Given the description of an element on the screen output the (x, y) to click on. 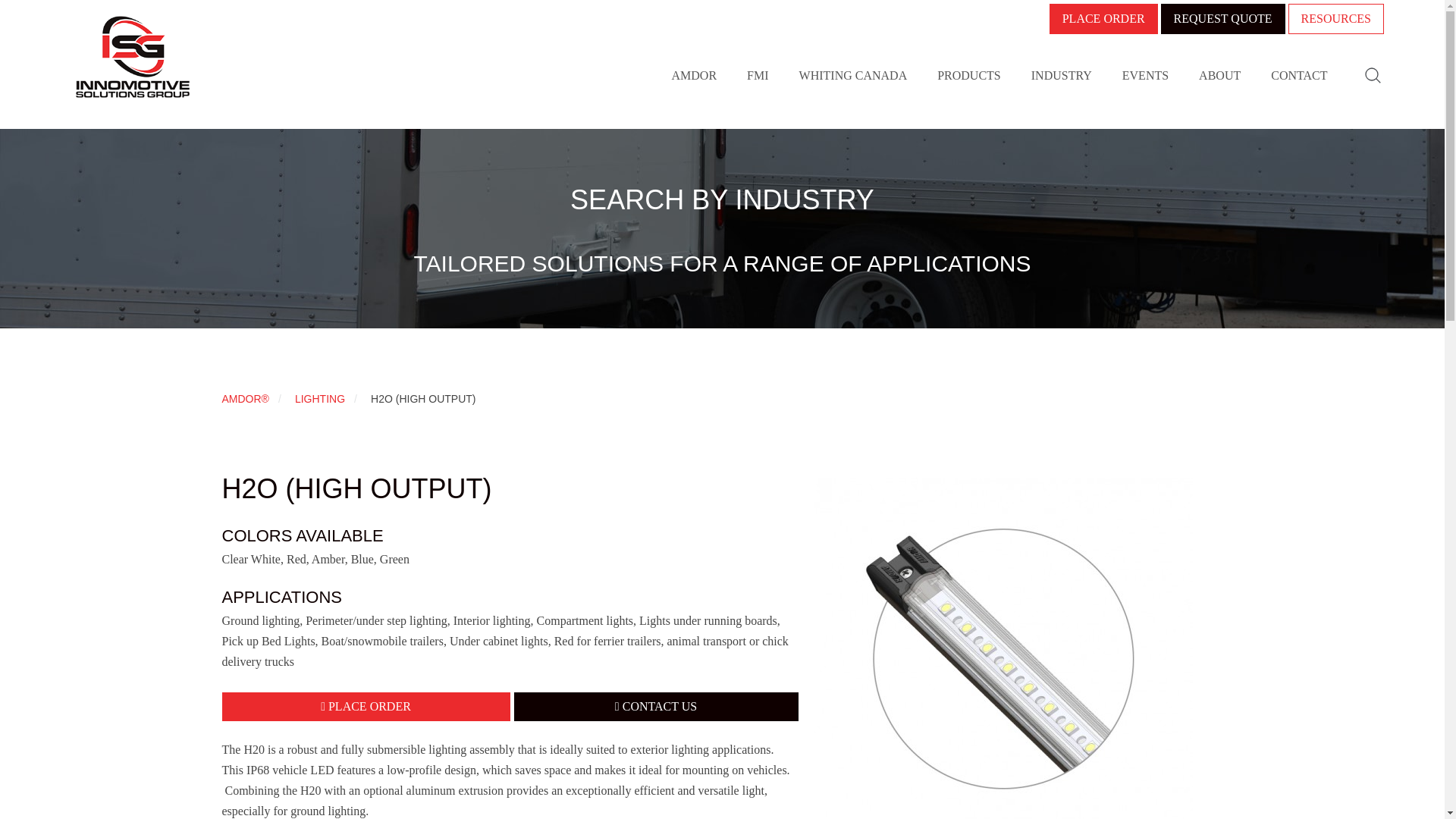
REQUEST QUOTE (1222, 19)
FMI (757, 75)
AMDOR (694, 75)
RESOURCES (1336, 19)
PLACE ORDER (1103, 19)
WHITING CANADA (853, 75)
